Given the description of an element on the screen output the (x, y) to click on. 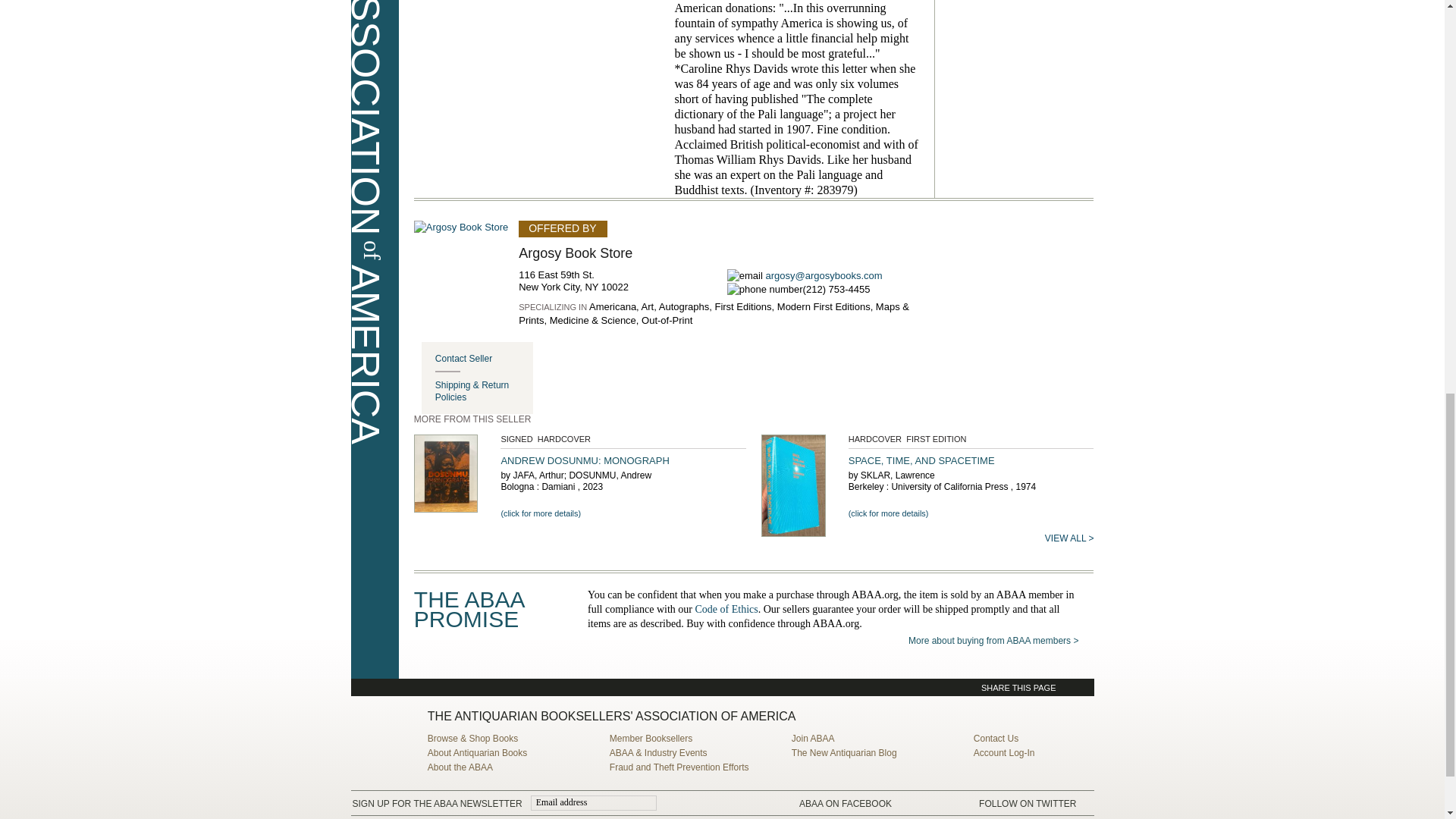
Argosy Book Store (574, 253)
Contact Seller (483, 358)
ANDREW DOSUNMU: MONOGRAPH (584, 460)
